Given the description of an element on the screen output the (x, y) to click on. 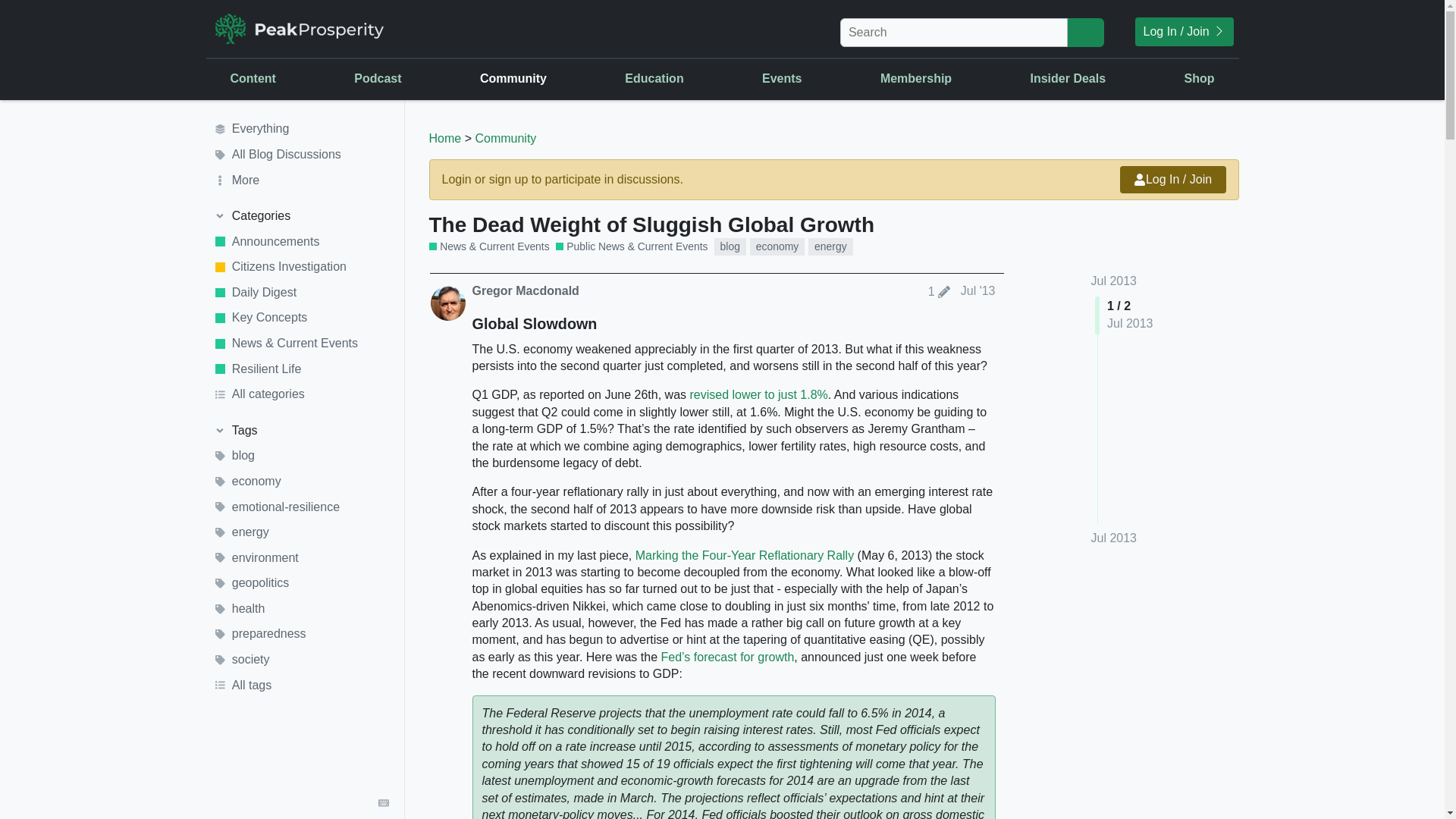
Daily Digest (301, 292)
energy (830, 246)
Community (504, 137)
geopolitics (301, 583)
Home (445, 137)
economy (301, 481)
preparedness (301, 634)
Resilient Life (301, 369)
Podcast (377, 78)
energy (301, 533)
All tags (301, 685)
Tags (301, 430)
Forum (638, 178)
Citizens Investigation (301, 267)
Community (513, 78)
